Given the description of an element on the screen output the (x, y) to click on. 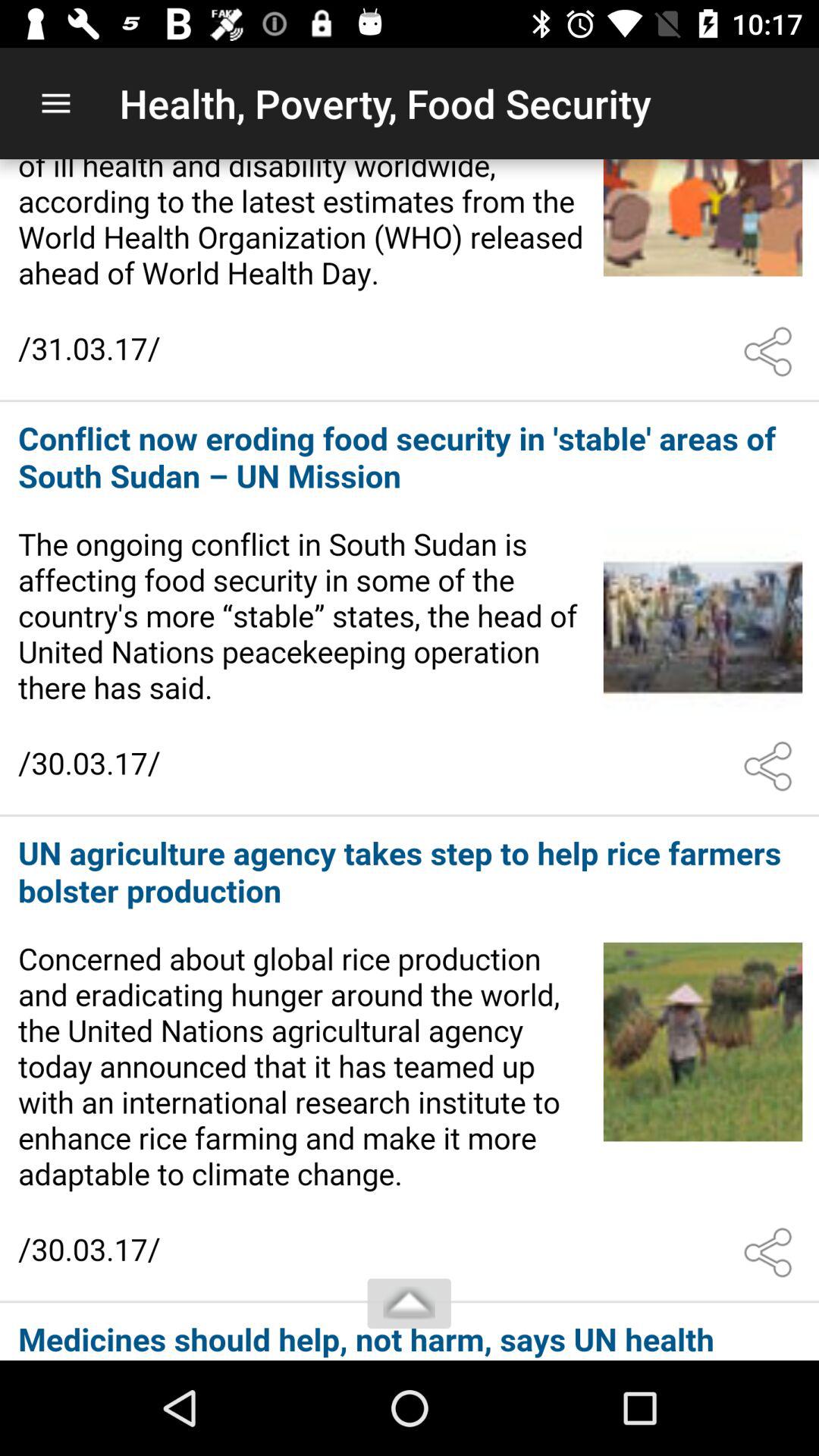
health advertisement (409, 279)
